Given the description of an element on the screen output the (x, y) to click on. 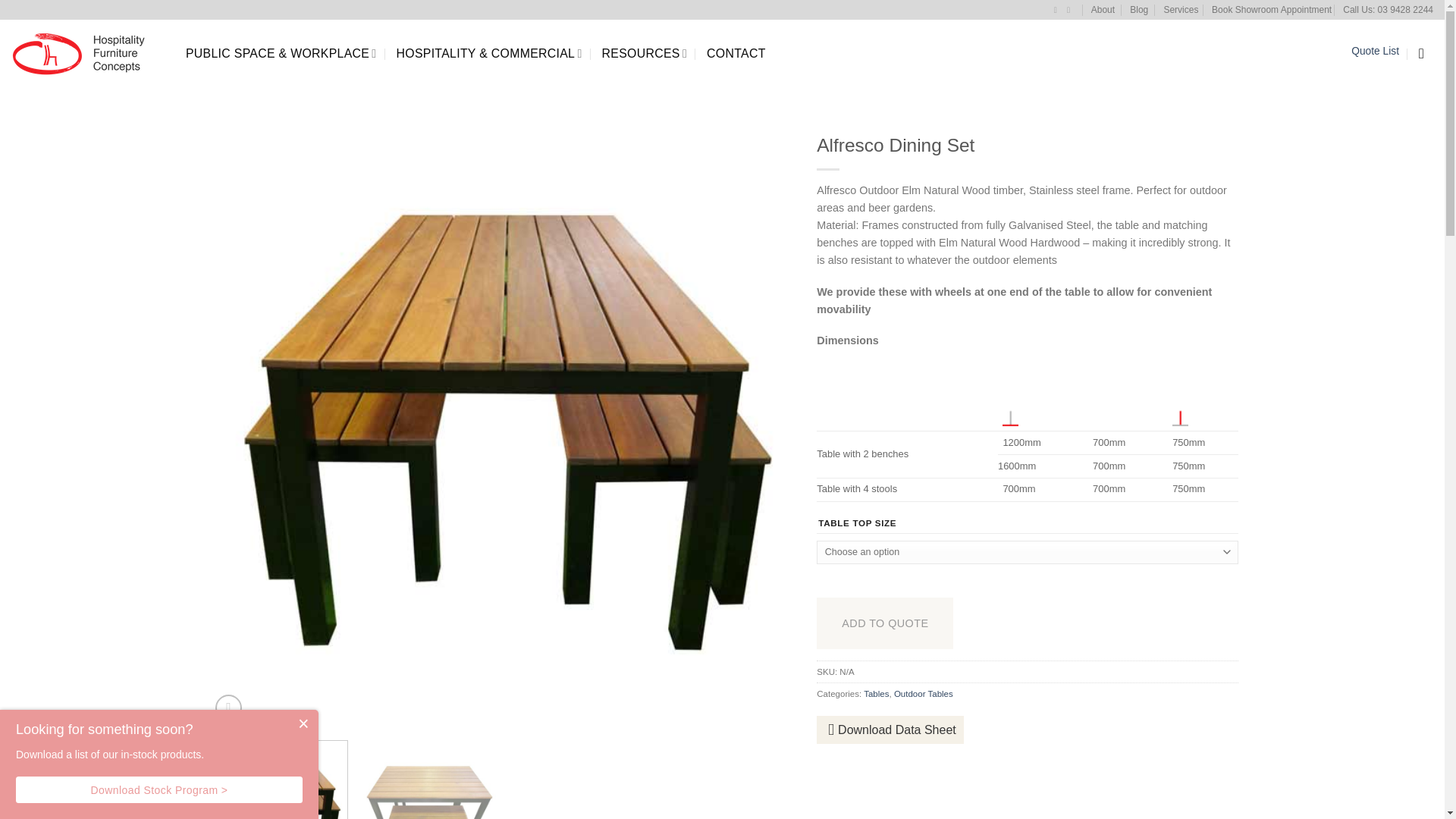
About (1102, 9)
Follow on Instagram (1071, 9)
Follow on Facebook (1058, 9)
Book Showroom Appointment (1271, 9)
Zoom (228, 707)
Call Us: 03 9428 2244 (1387, 9)
Blog (1138, 9)
Services (1180, 9)
